Given the description of an element on the screen output the (x, y) to click on. 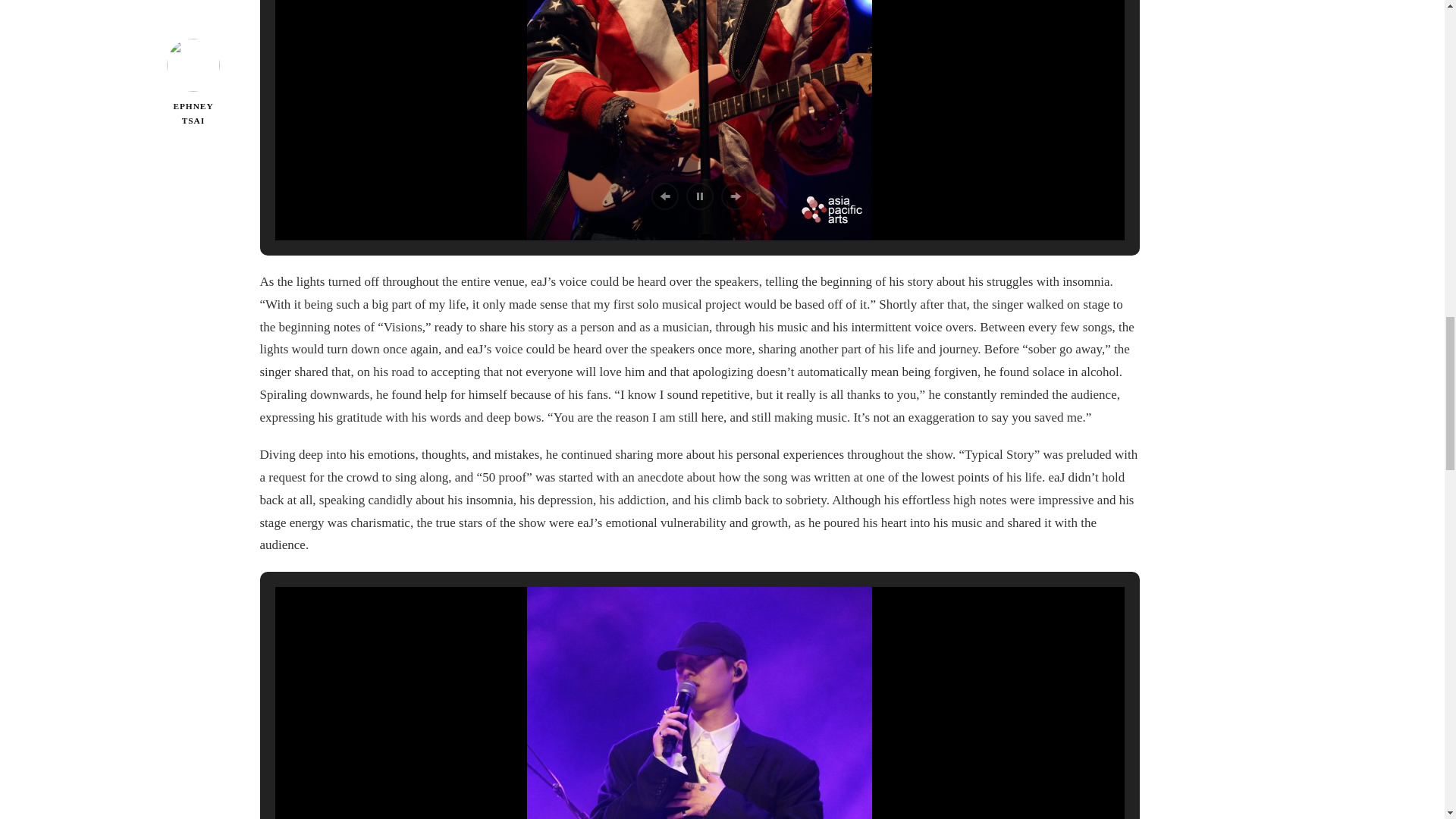
Mad Tsai (699, 120)
eaJ (699, 703)
